Given the description of an element on the screen output the (x, y) to click on. 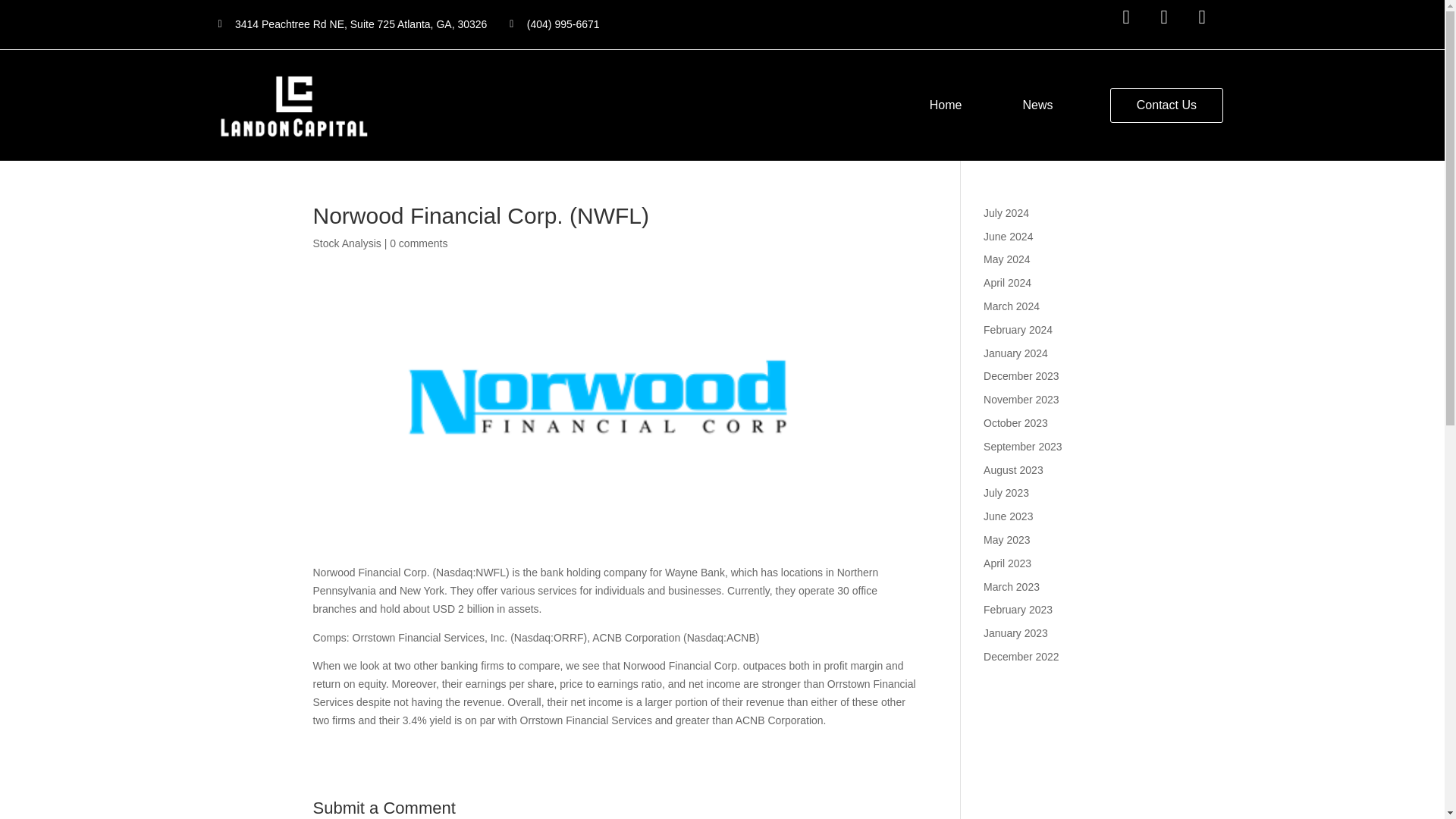
April 2023 (1007, 563)
November 2023 (1021, 399)
January 2024 (1016, 353)
February 2023 (1018, 609)
0 comments (418, 243)
May 2023 (1006, 539)
January 2023 (1016, 633)
3414 Peachtree Rd NE, Suite 725 Atlanta, GA, 30326 (352, 24)
September 2023 (1023, 446)
Home (945, 104)
February 2024 (1018, 329)
December 2023 (1021, 376)
August 2023 (1013, 469)
News (1037, 104)
April 2024 (1007, 282)
